Given the description of an element on the screen output the (x, y) to click on. 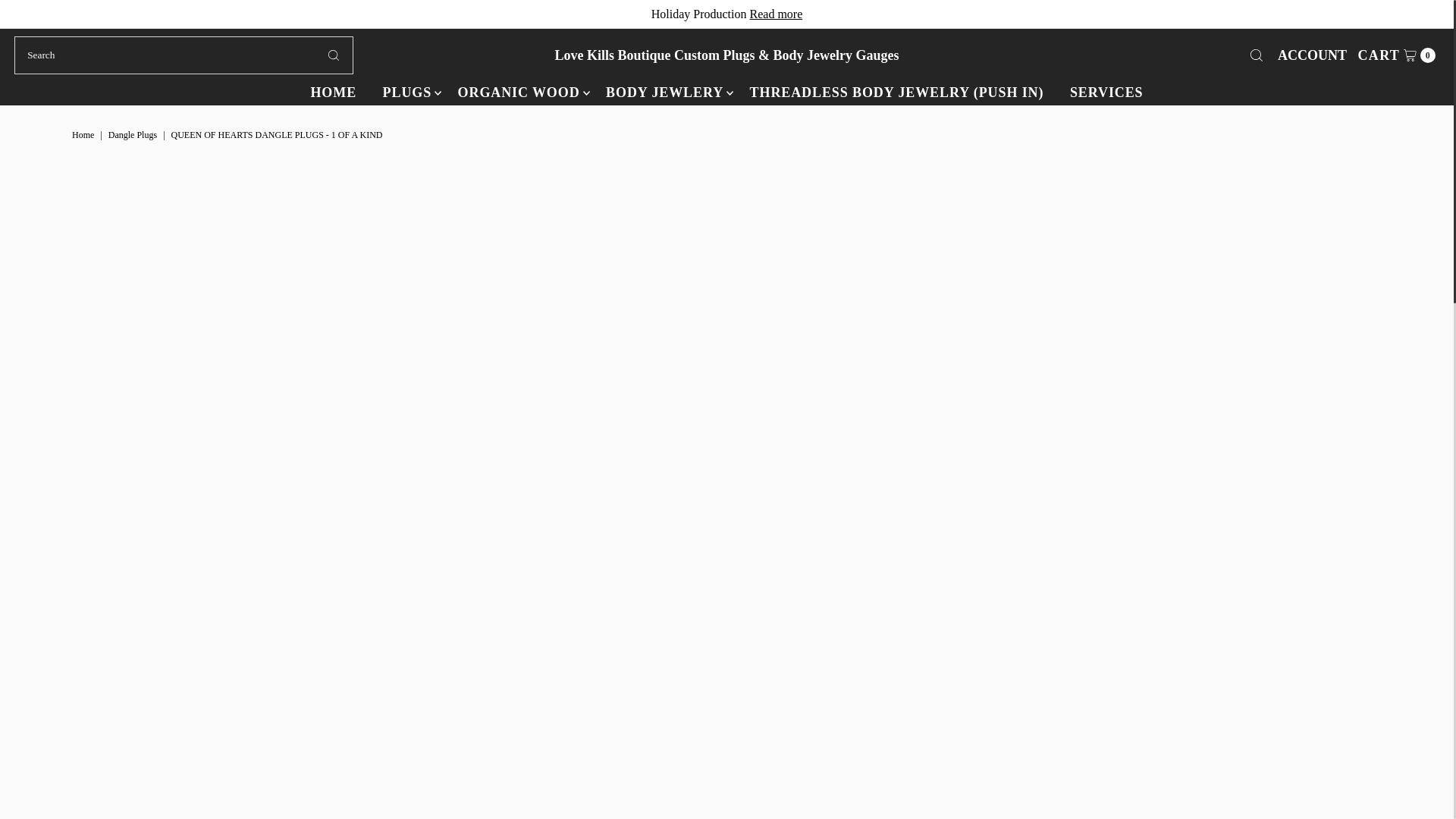
Home (84, 134)
Holiday Production Breaks (775, 13)
Dangle Plugs (133, 134)
